Given the description of an element on the screen output the (x, y) to click on. 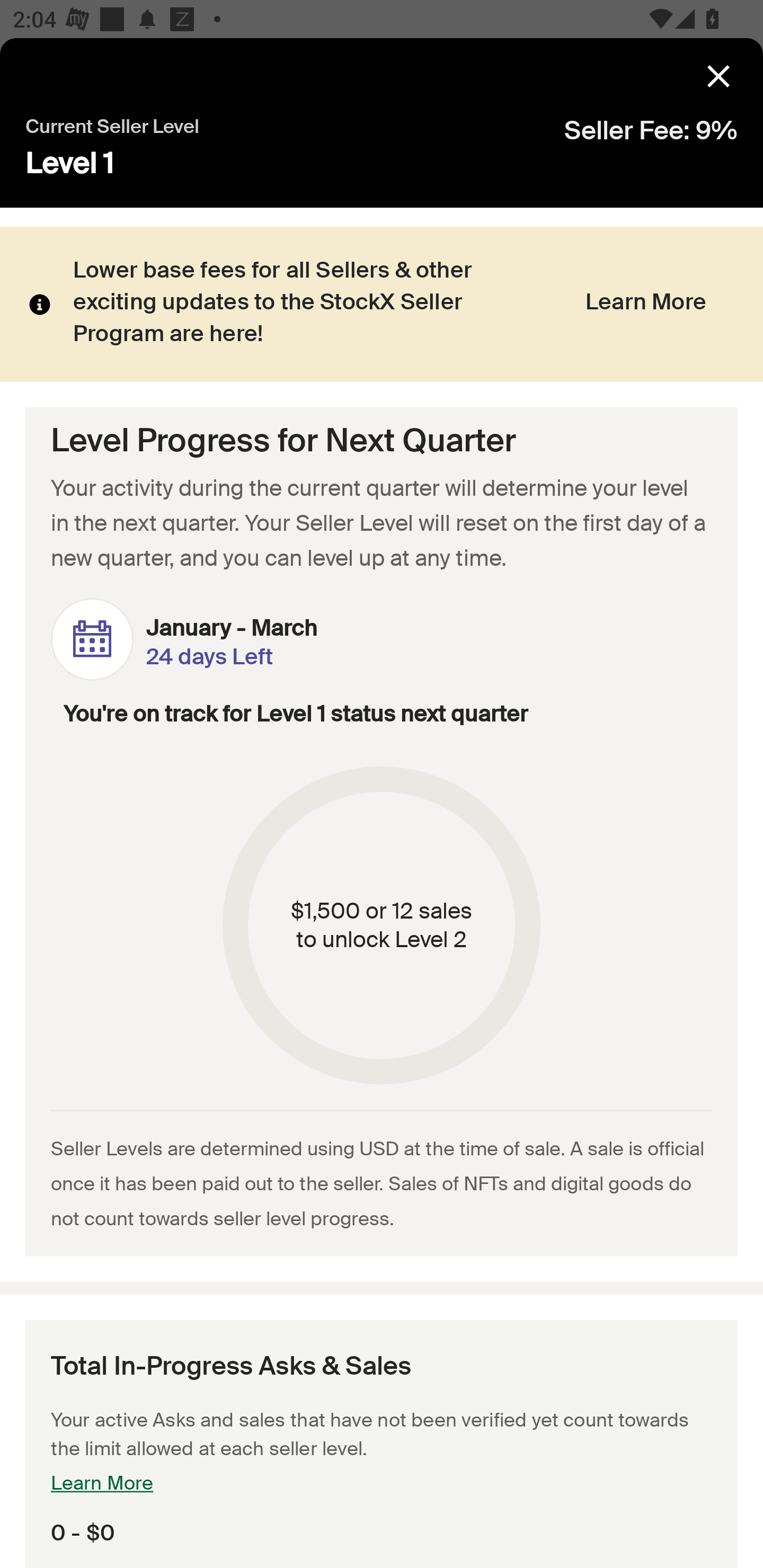
Learn More (645, 304)
Learn More (102, 1485)
